Given the description of an element on the screen output the (x, y) to click on. 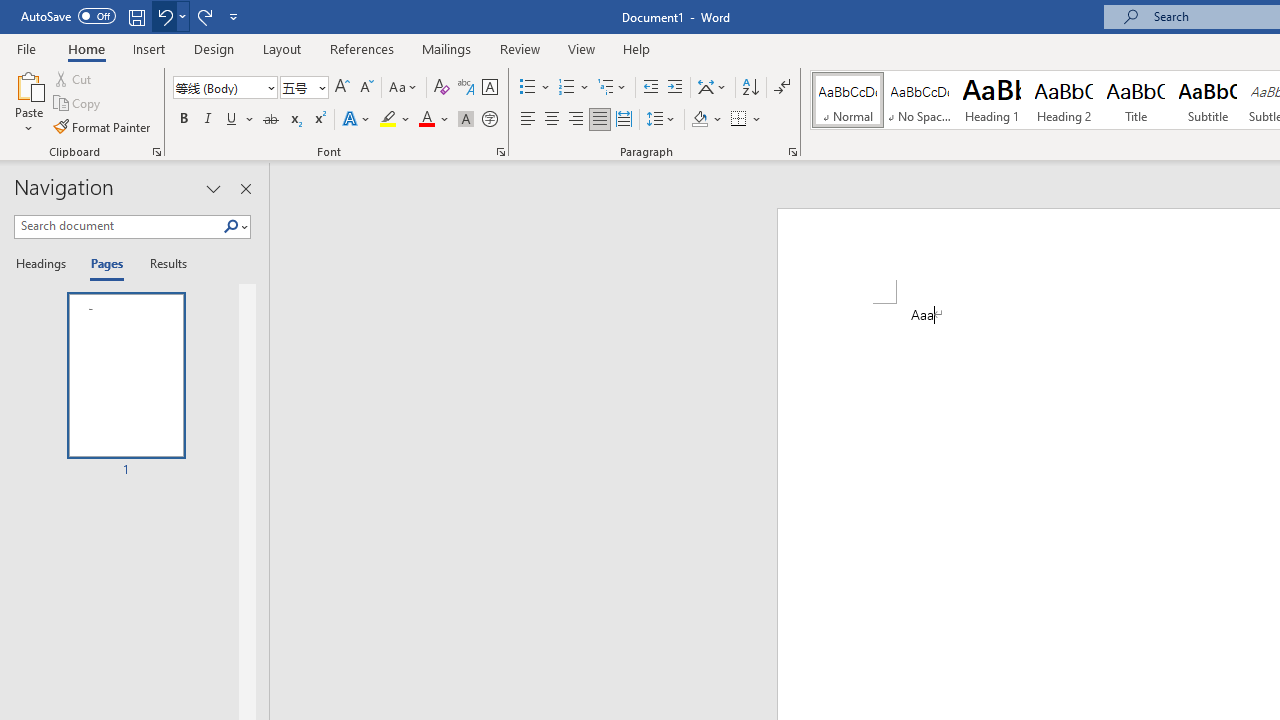
Align Right (575, 119)
Font Color Red (426, 119)
Redo Increase Indent (204, 15)
Close pane (246, 188)
Enclose Characters... (489, 119)
AutoSave (68, 16)
Office Clipboard... (156, 151)
Task Pane Options (214, 188)
